Given the description of an element on the screen output the (x, y) to click on. 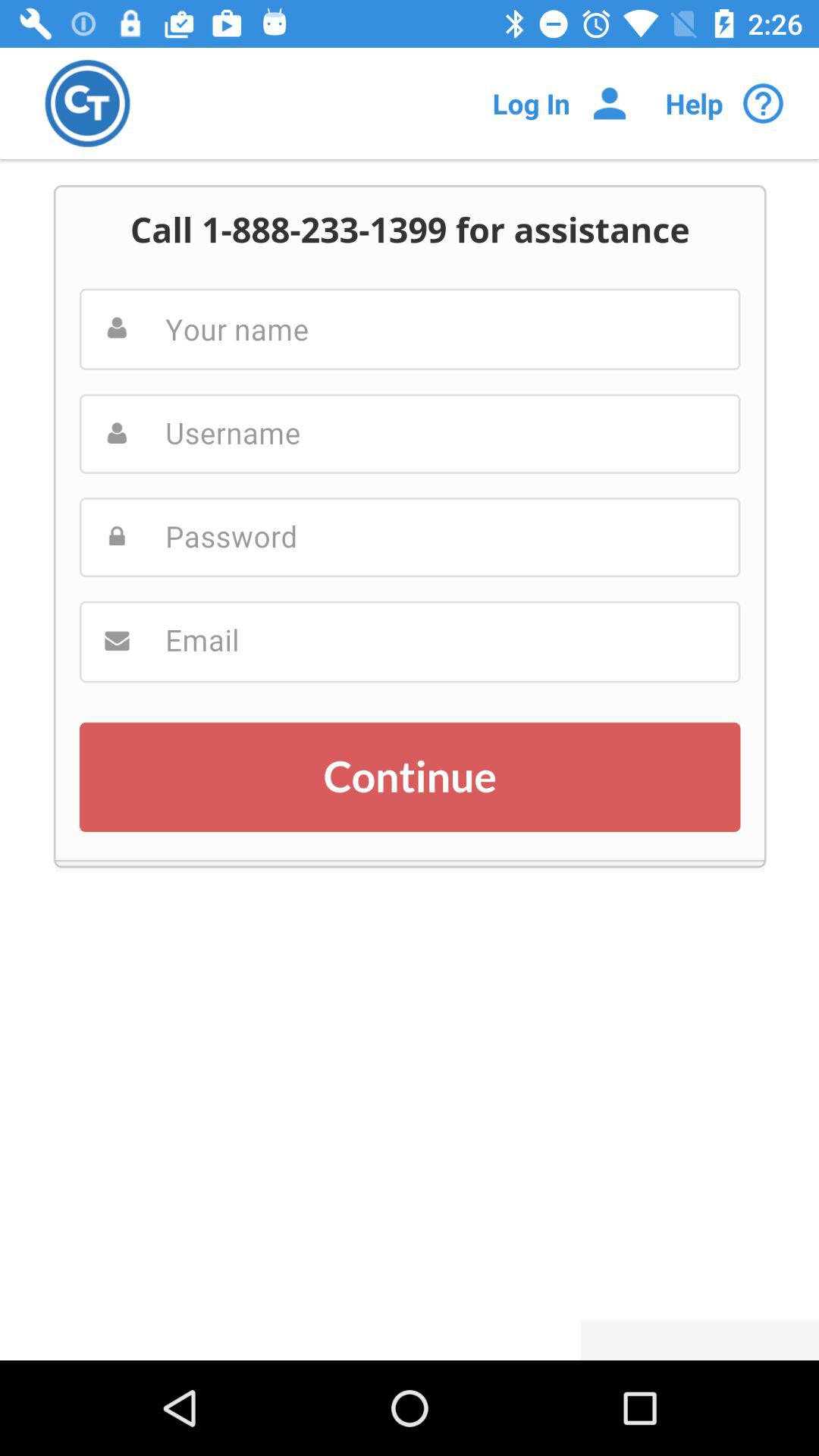
go to homepage (87, 103)
